Given the description of an element on the screen output the (x, y) to click on. 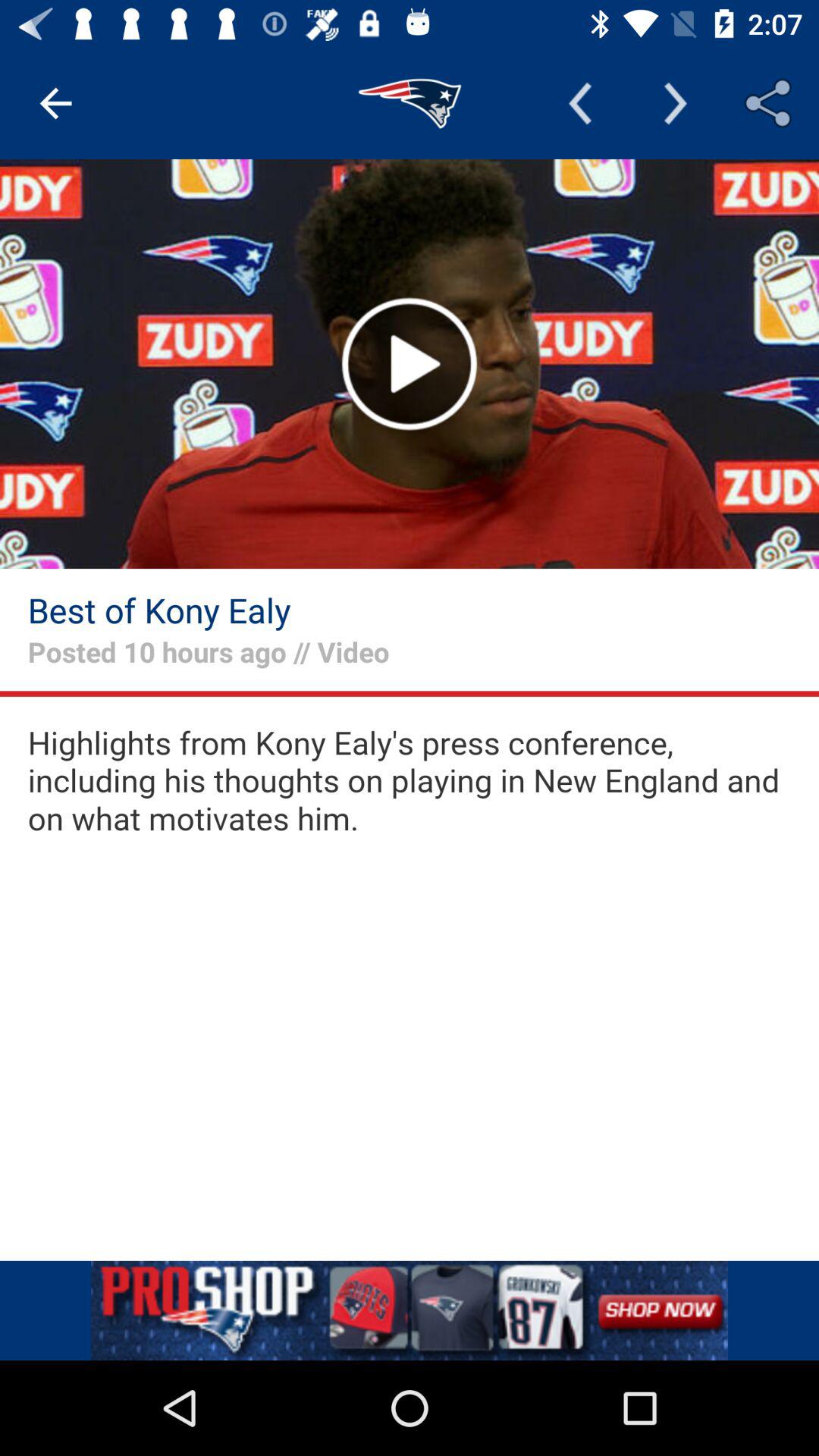
toggle autoplay option (409, 363)
